Given the description of an element on the screen output the (x, y) to click on. 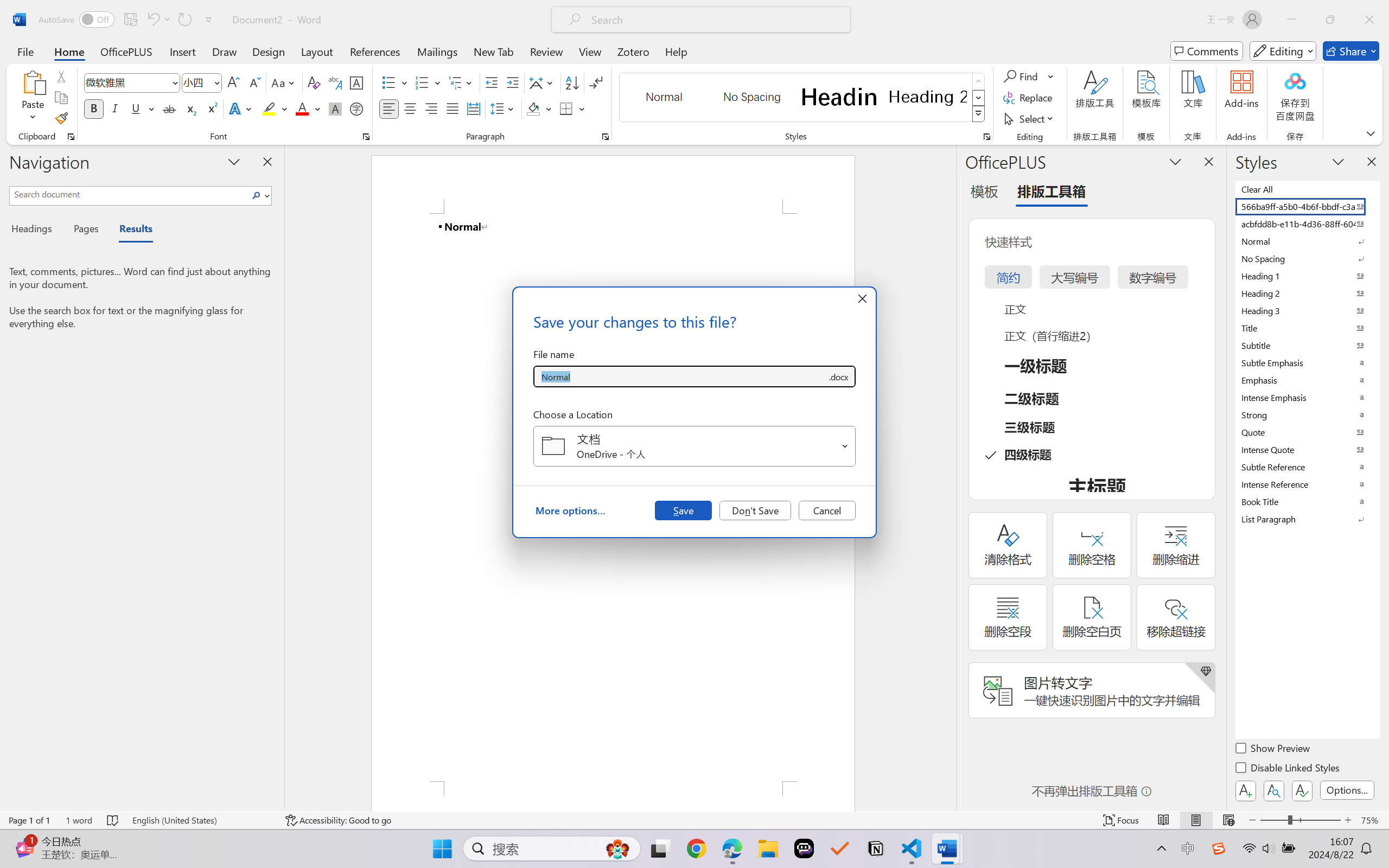
Align Left (388, 108)
Paragraph... (605, 136)
Microsoft search (715, 19)
Format Painter (60, 118)
New Tab (493, 51)
Row Down (978, 97)
Title (1306, 327)
Underline (135, 108)
Font Color (308, 108)
Bold (94, 108)
Zoom Out (1273, 819)
Subtitle (1306, 345)
